Given the description of an element on the screen output the (x, y) to click on. 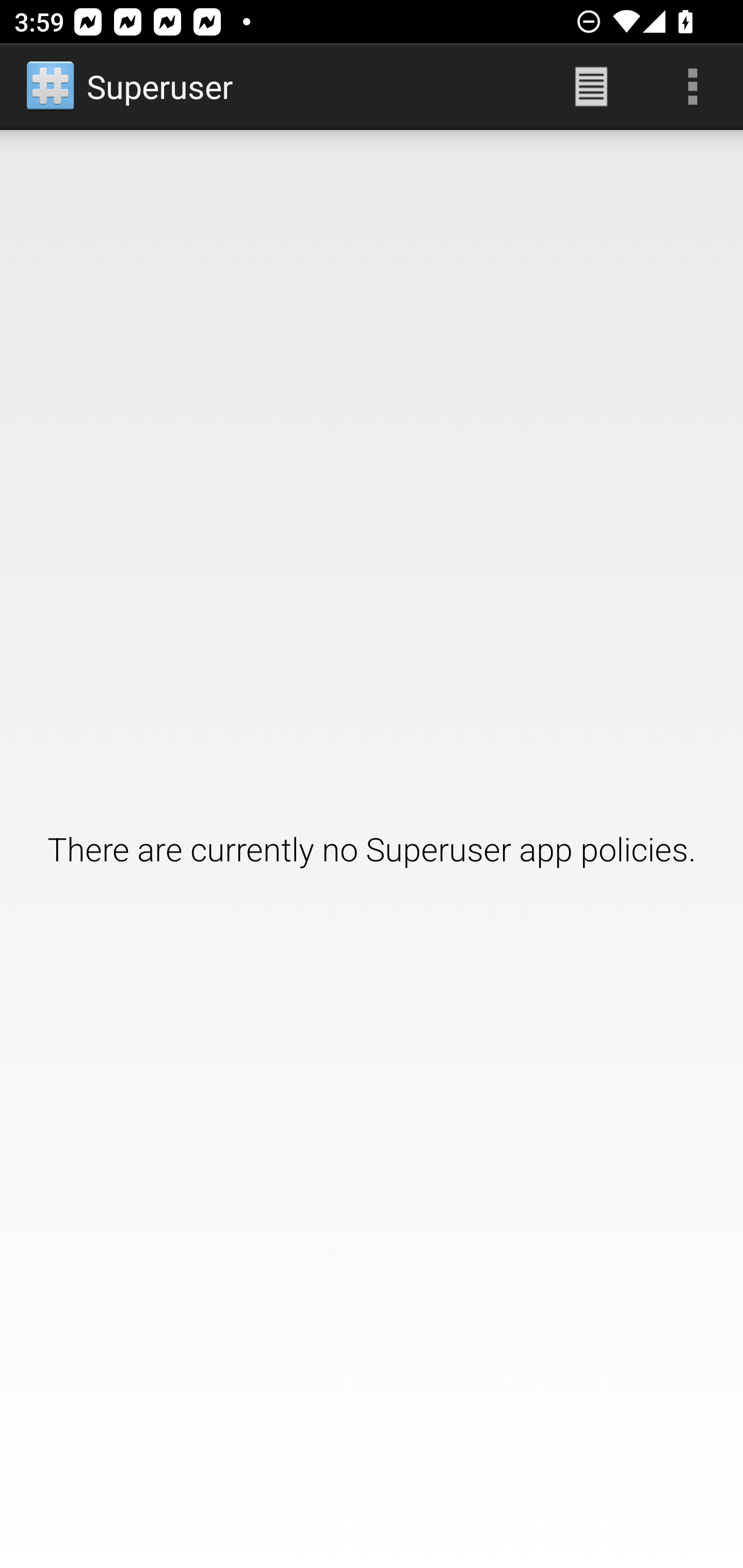
Superuser (130, 86)
Logs (590, 86)
More options (692, 86)
